Given the description of an element on the screen output the (x, y) to click on. 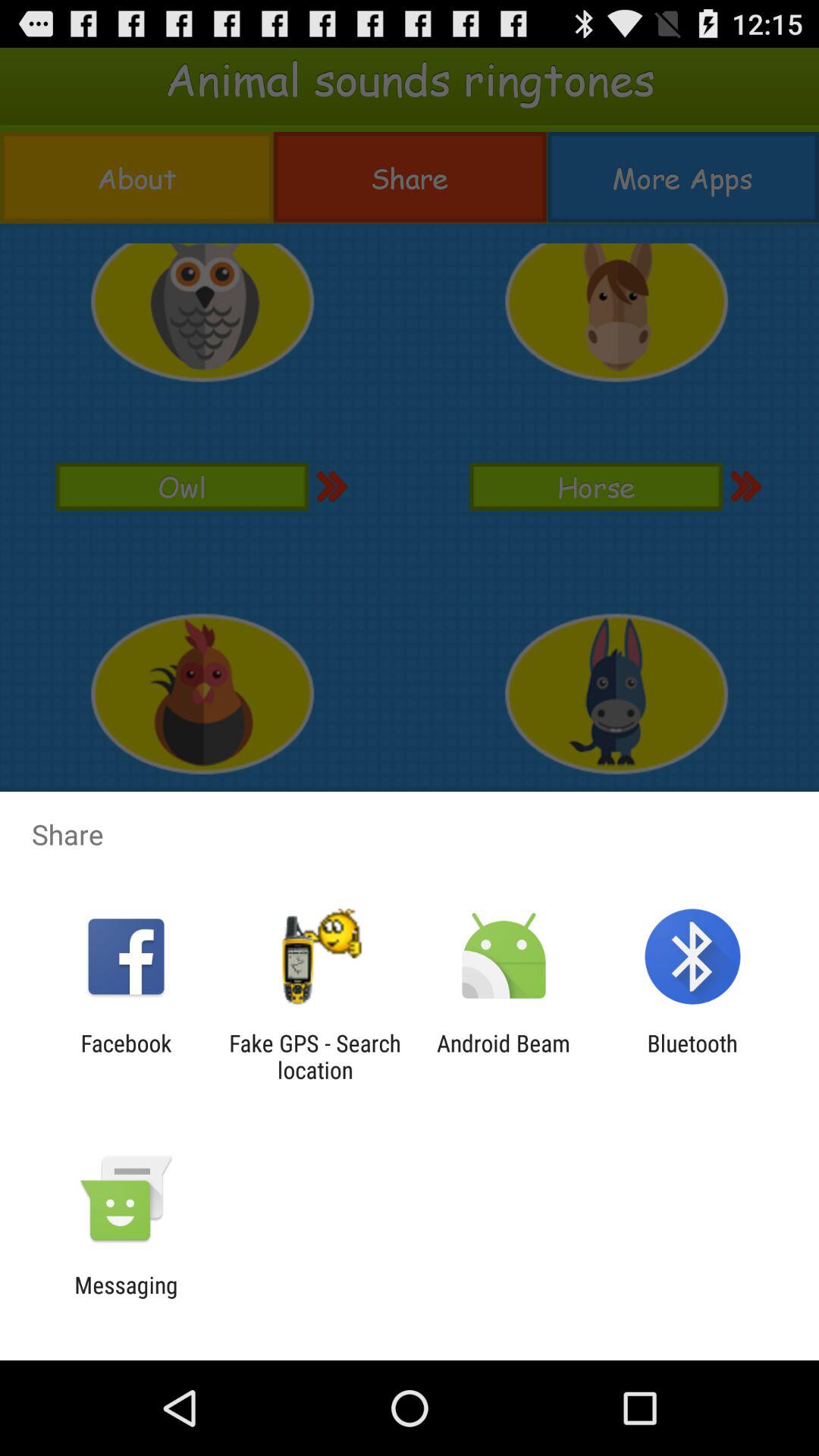
open bluetooth (692, 1056)
